Given the description of an element on the screen output the (x, y) to click on. 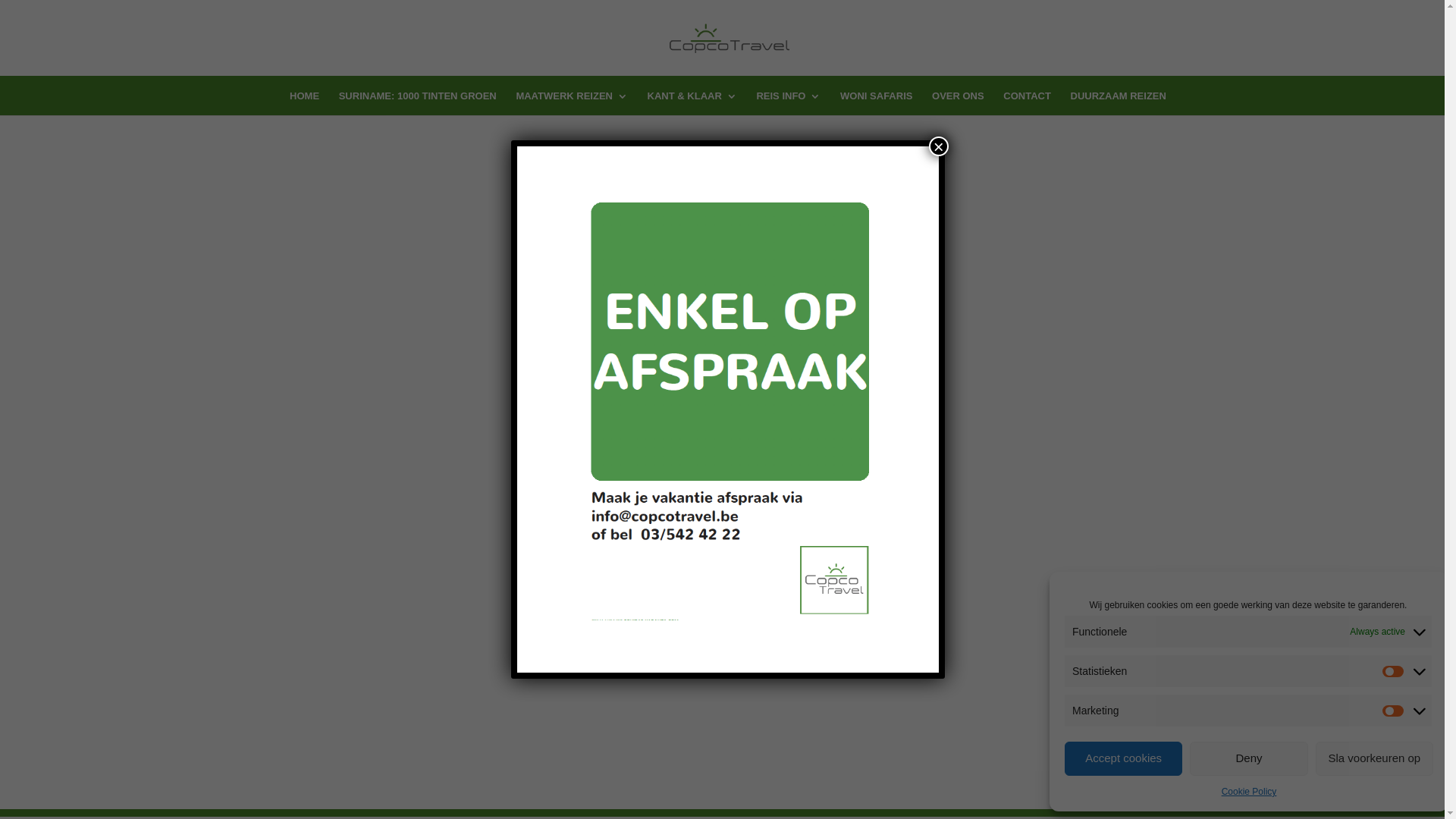
copco-covid-2 Element type: hover (727, 408)
TERUG NAAR COPCO TRAVEL Element type: text (722, 249)
KANT & KLAAR Element type: text (692, 103)
SURINAME: 1000 TINTEN GROEN Element type: text (417, 103)
OVER ONS Element type: text (957, 103)
REIS INFO Element type: text (788, 103)
CONTACT Element type: text (1027, 103)
Accept cookies Element type: text (1123, 758)
Cookie Policy Element type: text (1249, 791)
MAATWERK REIZEN Element type: text (571, 103)
HOME Element type: text (304, 103)
Deny Element type: text (1248, 758)
DUURZAAM REIZEN Element type: text (1118, 103)
WONI SAFARIS Element type: text (876, 103)
Sla voorkeuren op Element type: text (1374, 758)
